Given the description of an element on the screen output the (x, y) to click on. 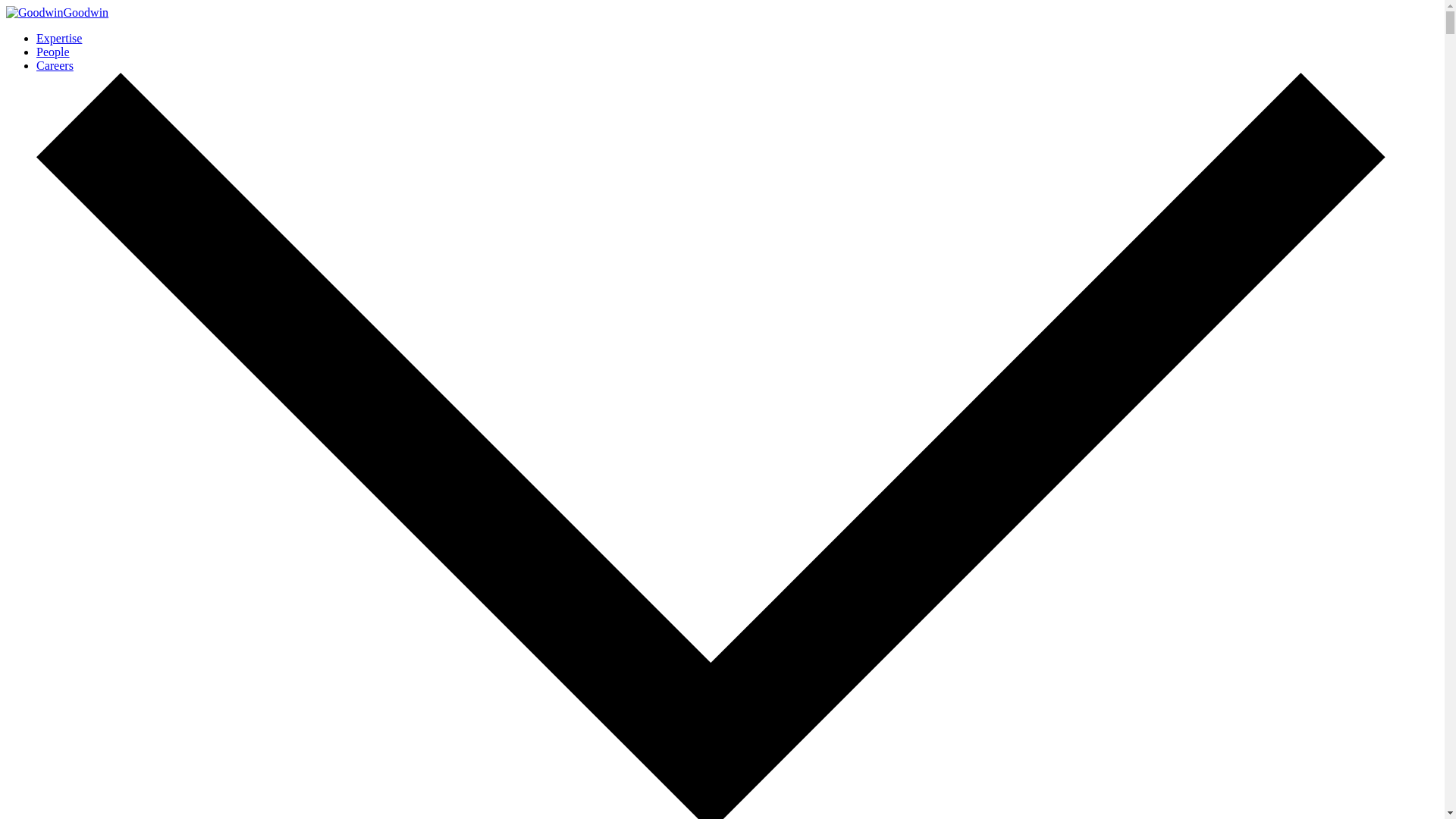
People (52, 51)
Goodwin (56, 11)
Expertise (58, 38)
